Given the description of an element on the screen output the (x, y) to click on. 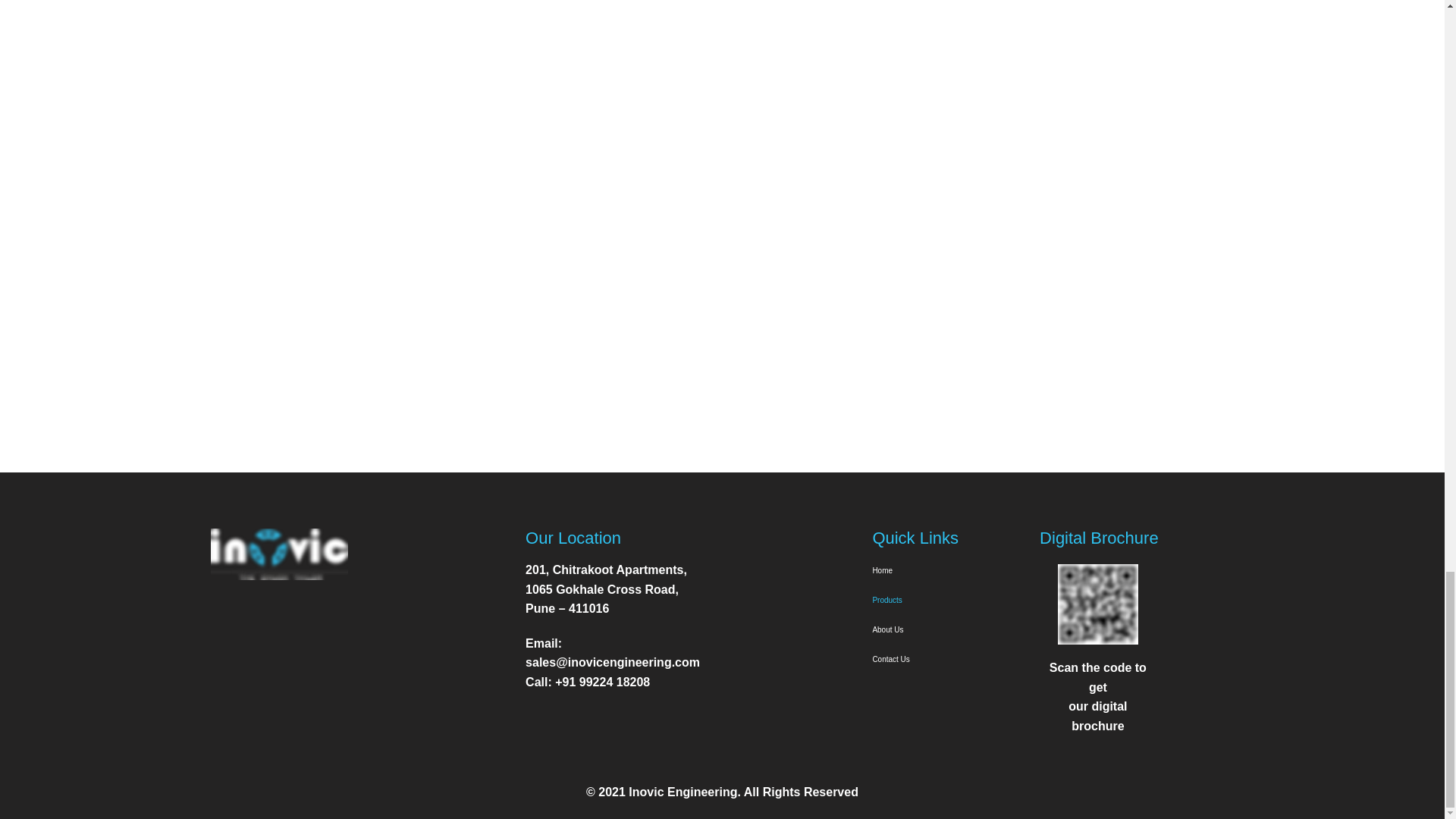
Products (942, 600)
Contact Us (942, 659)
Home (942, 570)
About Us (942, 629)
